Given the description of an element on the screen output the (x, y) to click on. 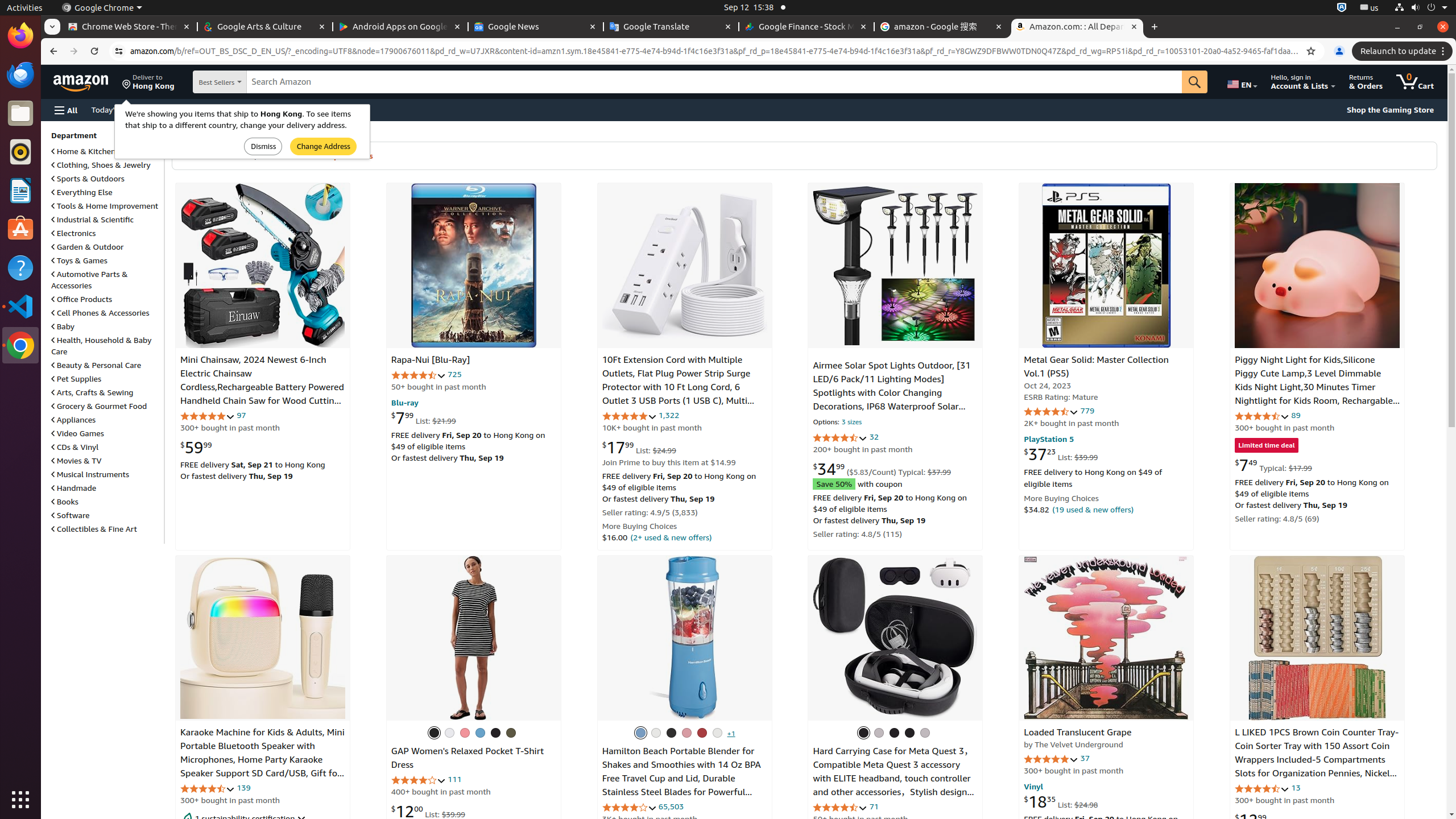
Submit Element type: push-button (263, 146)
Navy White Stripe Element type: push-button (449, 732)
Black Element type: push-button (863, 732)
Registry Element type: link (244, 109)
Musical Instruments Element type: link (90, 473)
